Given the description of an element on the screen output the (x, y) to click on. 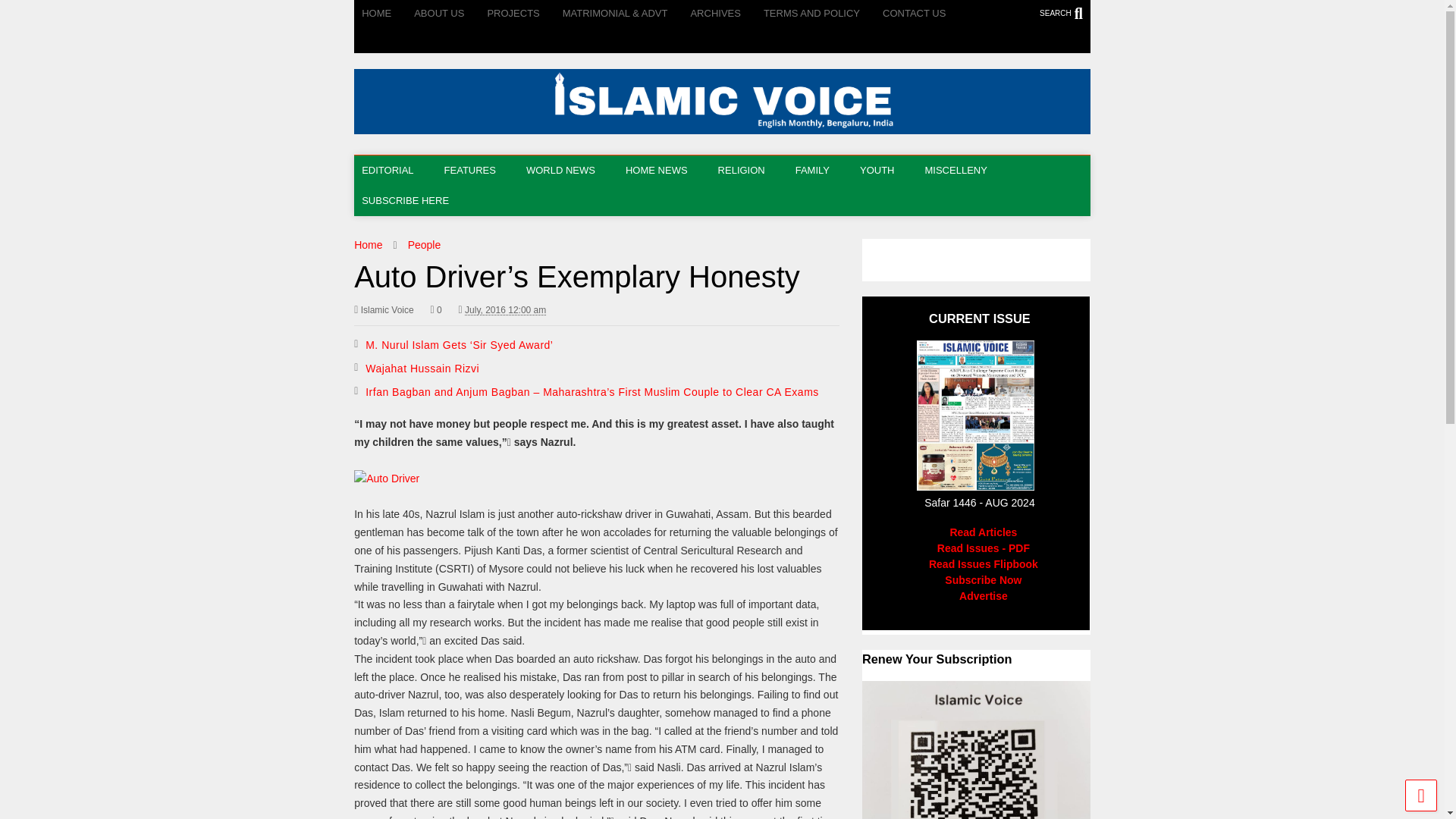
ARCHIVES (726, 13)
TERMS AND POLICY (822, 13)
ABOUT US (449, 13)
HOME (387, 13)
EDITORIAL (394, 170)
July, 2016 12:00 am (505, 309)
CONTACT US (925, 13)
FEATURES (477, 170)
Wajahat Hussain Rizvi (422, 368)
PROJECTS (524, 13)
